Given the description of an element on the screen output the (x, y) to click on. 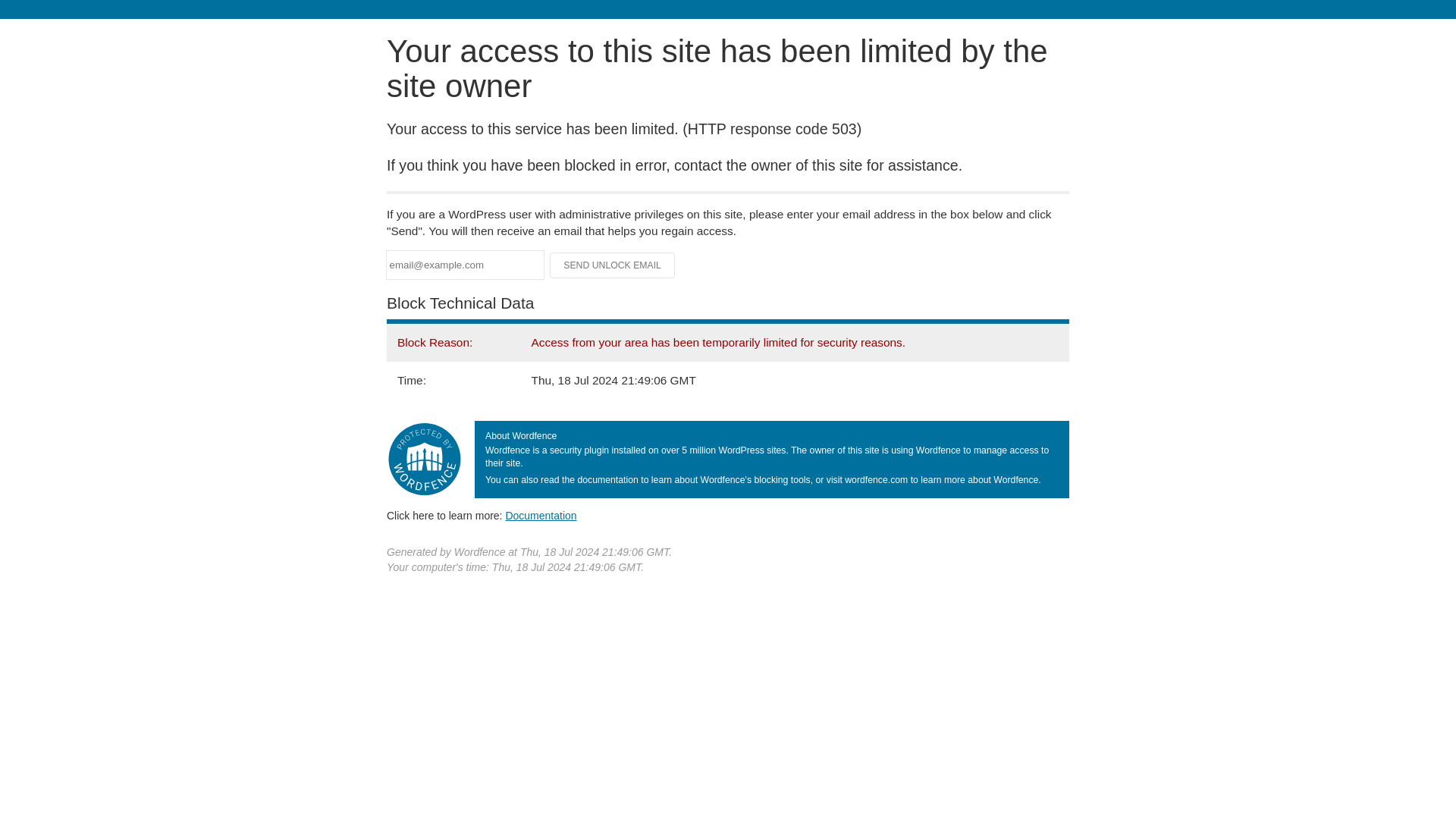
Send Unlock Email (612, 265)
Documentation (540, 515)
Send Unlock Email (612, 265)
